Given the description of an element on the screen output the (x, y) to click on. 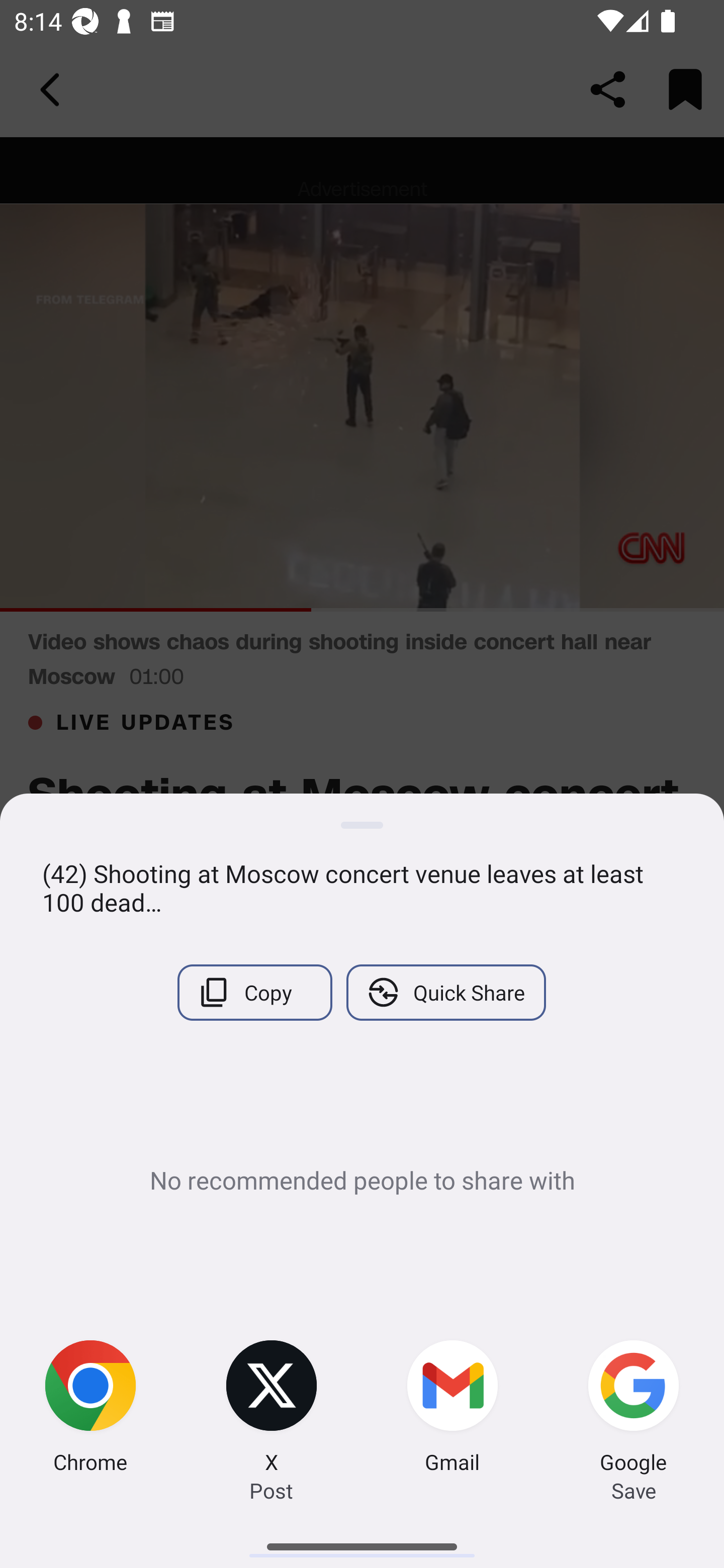
Copy (254, 992)
Quick Share (445, 992)
Chrome (90, 1409)
X Post (271, 1409)
Gmail (452, 1409)
Google Save (633, 1409)
